Given the description of an element on the screen output the (x, y) to click on. 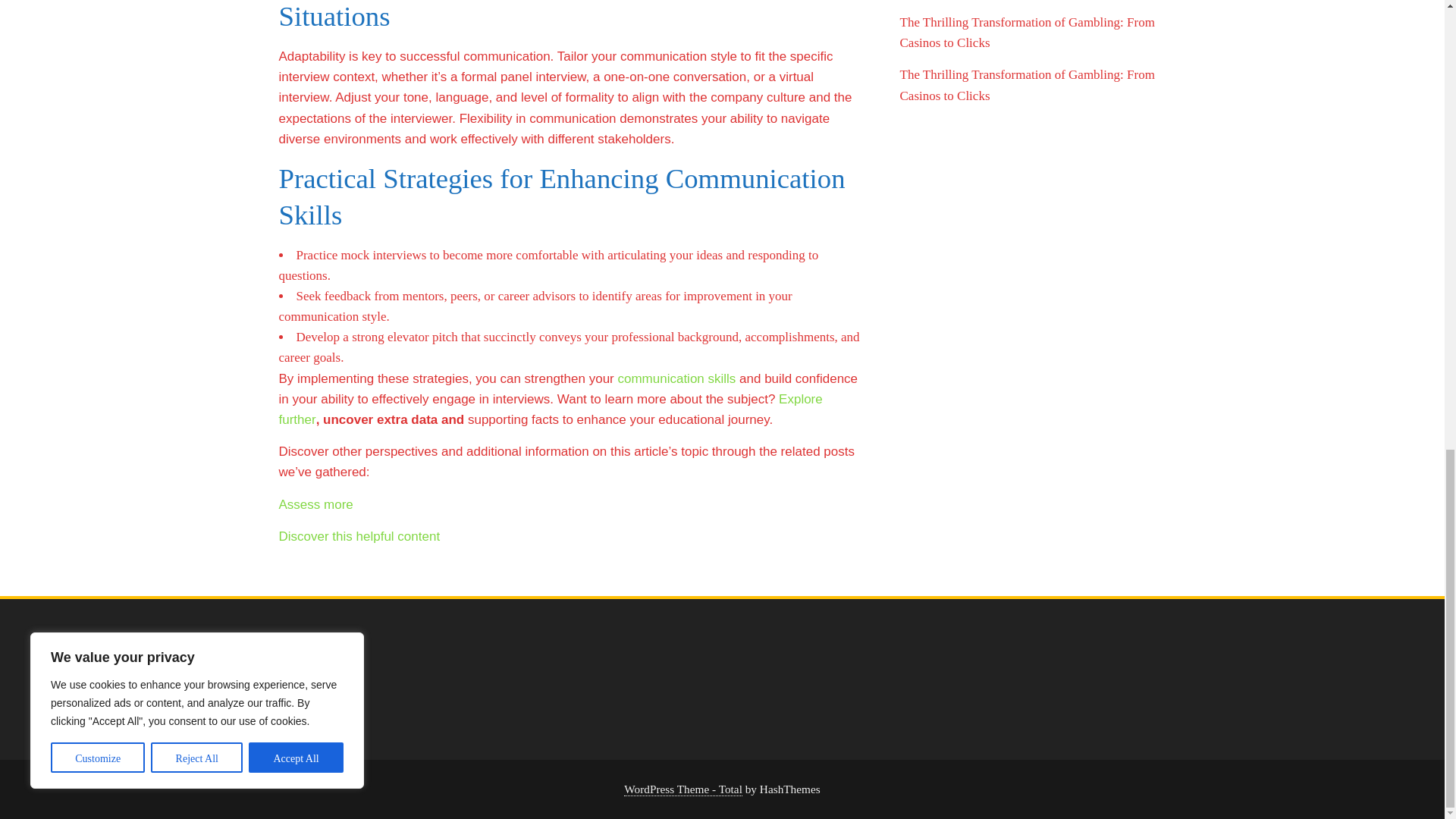
Discover this helpful content (360, 536)
Assess more (316, 504)
Explore further (550, 409)
communication skills (676, 378)
